Given the description of an element on the screen output the (x, y) to click on. 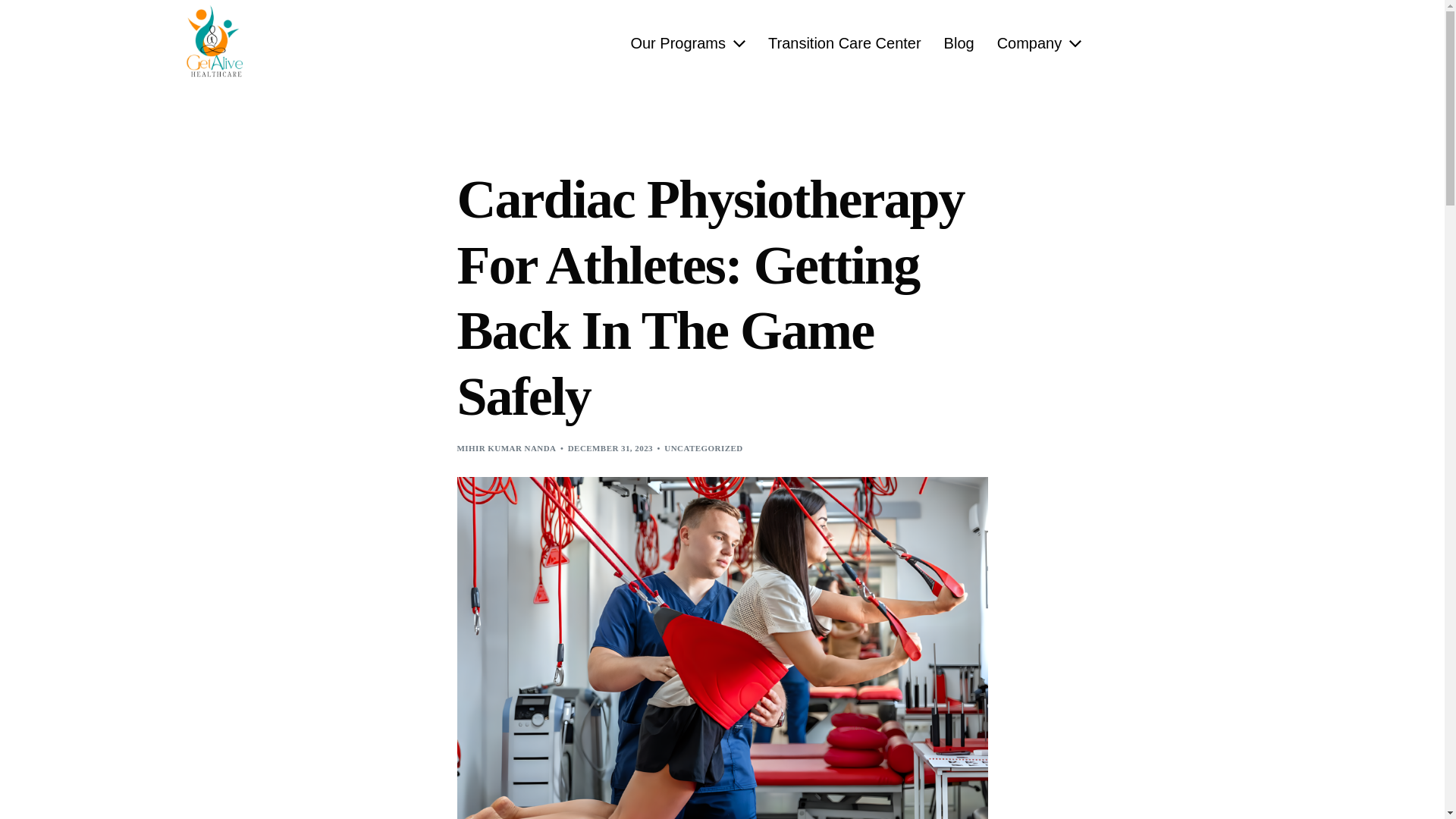
Company (1039, 43)
Transition Care Center (845, 43)
Our Programs (687, 43)
Posts by Mihir Kumar Nanda (506, 447)
Blog (959, 43)
MIHIR KUMAR NANDA (506, 447)
UNCATEGORIZED (702, 447)
